Given the description of an element on the screen output the (x, y) to click on. 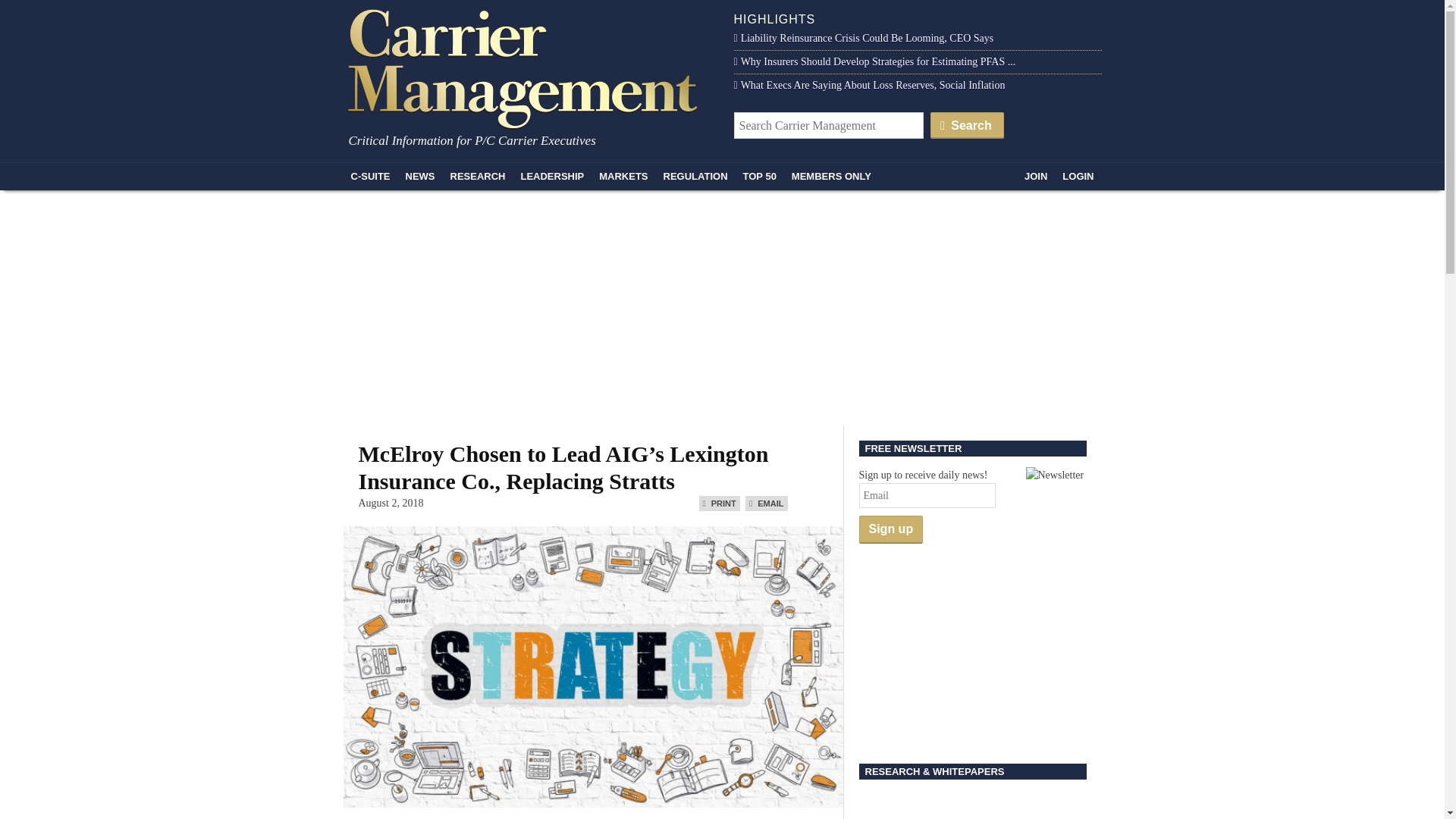
What Execs Are Saying About Loss Reserves, Social Inflation (869, 84)
Carrier Management (527, 67)
MEMBERS ONLY (831, 176)
Liability Reinsurance Crisis Could Be Looming, CEO Says (863, 38)
LOGIN (1077, 176)
C-SUITE (369, 176)
TOP 50 (759, 176)
Search (967, 125)
REGULATION (695, 176)
